Given the description of an element on the screen output the (x, y) to click on. 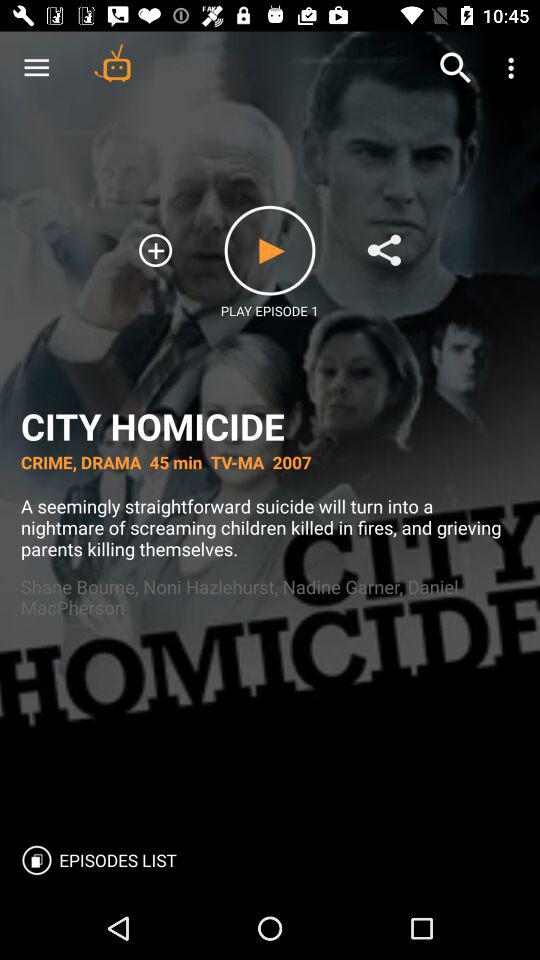
turn off the icon above city homicide item (112, 62)
